Given the description of an element on the screen output the (x, y) to click on. 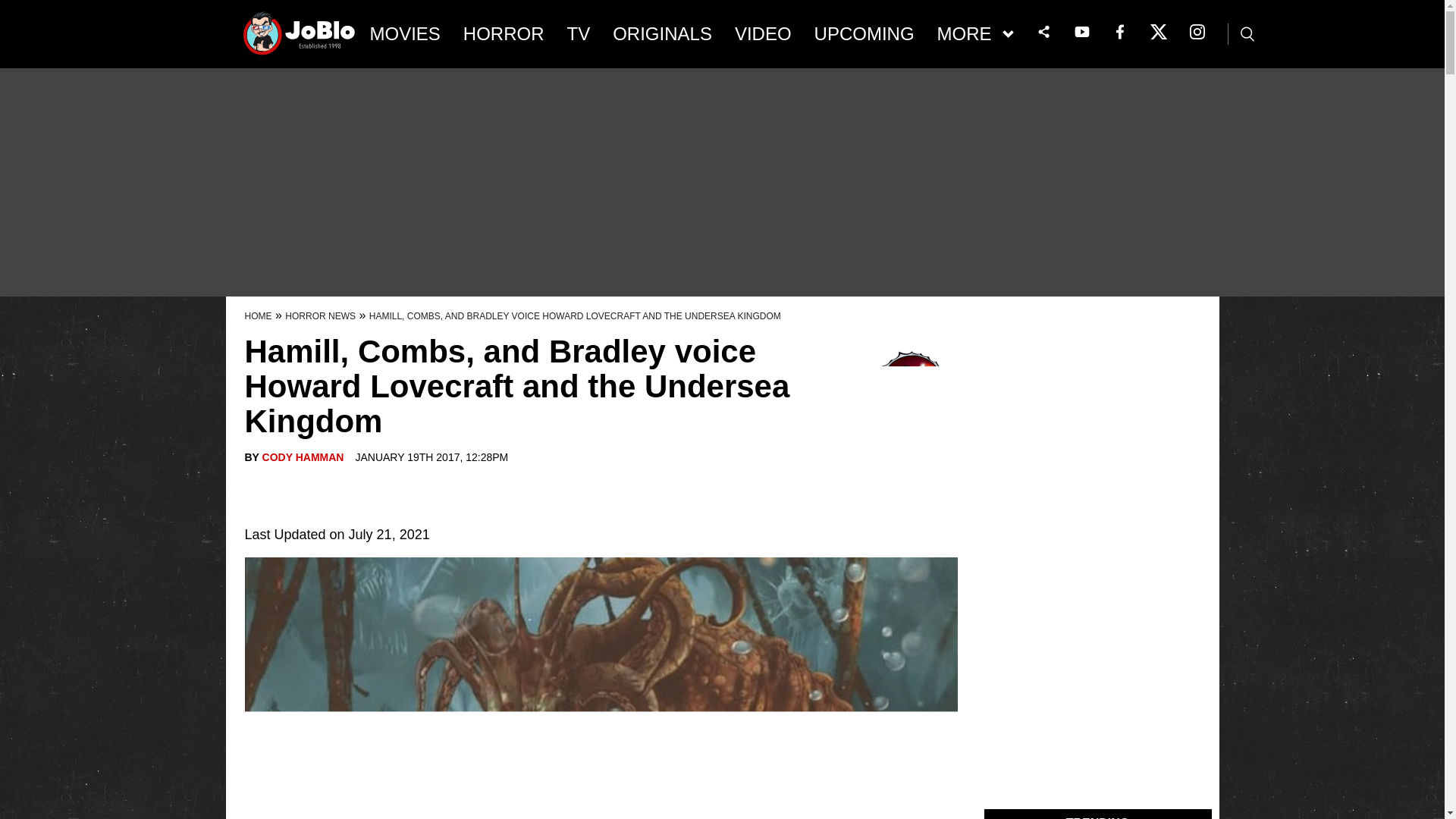
MOVIES (405, 34)
ORIGINALS (662, 34)
TV (578, 34)
HORROR (503, 34)
VIDEO (762, 34)
UPCOMING (863, 34)
JoBlo Logo (299, 38)
Go (13, 7)
MORE (976, 34)
